Given the description of an element on the screen output the (x, y) to click on. 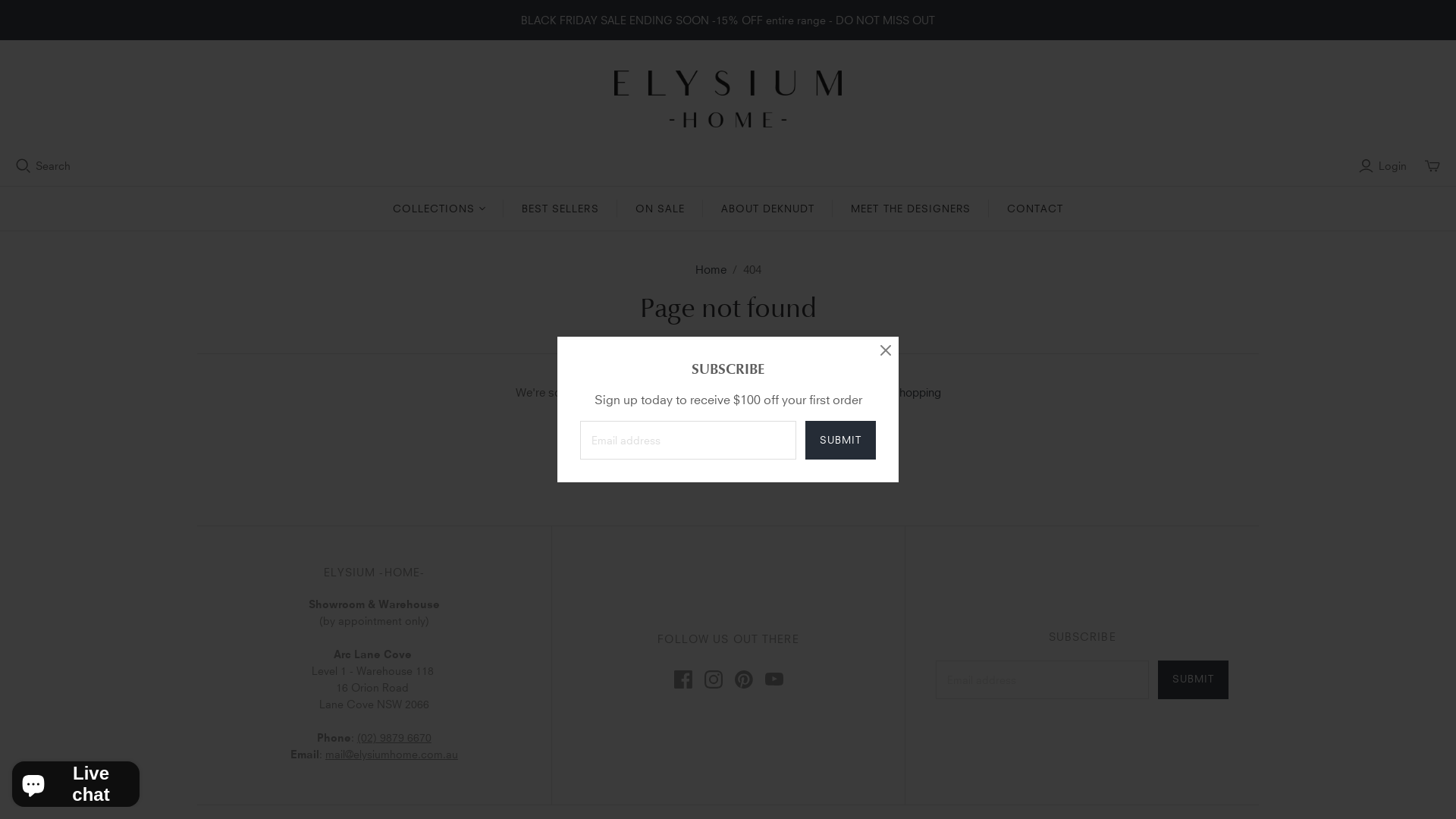
mail@elysiumhome.com.au Element type: text (391, 753)
ON SALE Element type: text (659, 208)
SUBMIT Element type: text (840, 439)
BEST SELLERS Element type: text (559, 208)
MEET THE DESIGNERS Element type: text (910, 208)
ABOUT DEKNUDT Element type: text (767, 208)
(02) 9879 6670 Element type: text (394, 737)
Home Element type: text (709, 269)
Login Element type: text (1384, 165)
Shopify online store chat Element type: hover (75, 780)
SUBMIT Element type: text (1192, 679)
Continue shopping Element type: text (892, 391)
CONTACT Element type: text (1034, 208)
